Given the description of an element on the screen output the (x, y) to click on. 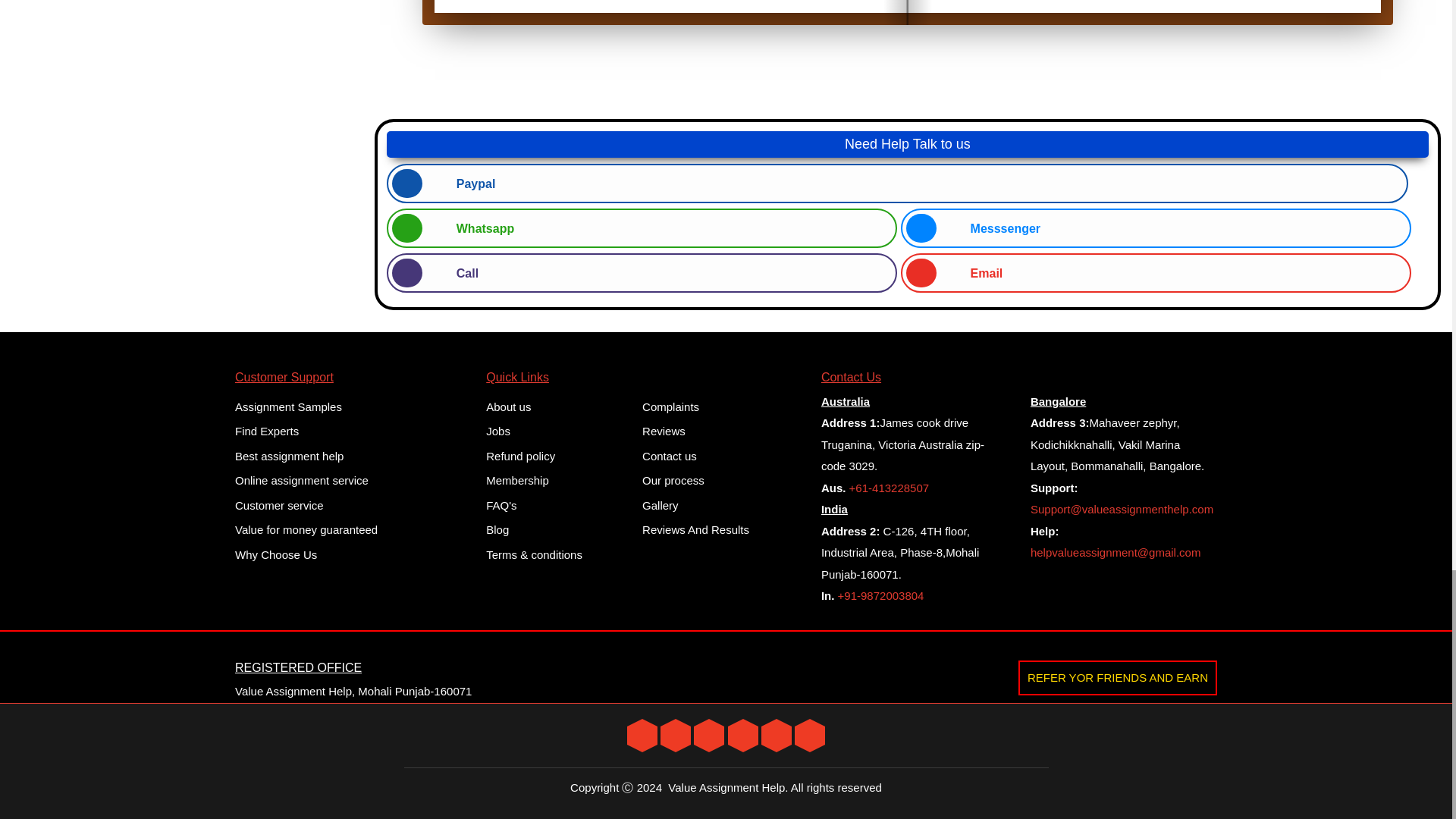
Skype (809, 734)
linkedin (708, 734)
Facebook (675, 734)
Pinterest (776, 734)
Twitter (642, 734)
Instagram (743, 734)
